Given the description of an element on the screen output the (x, y) to click on. 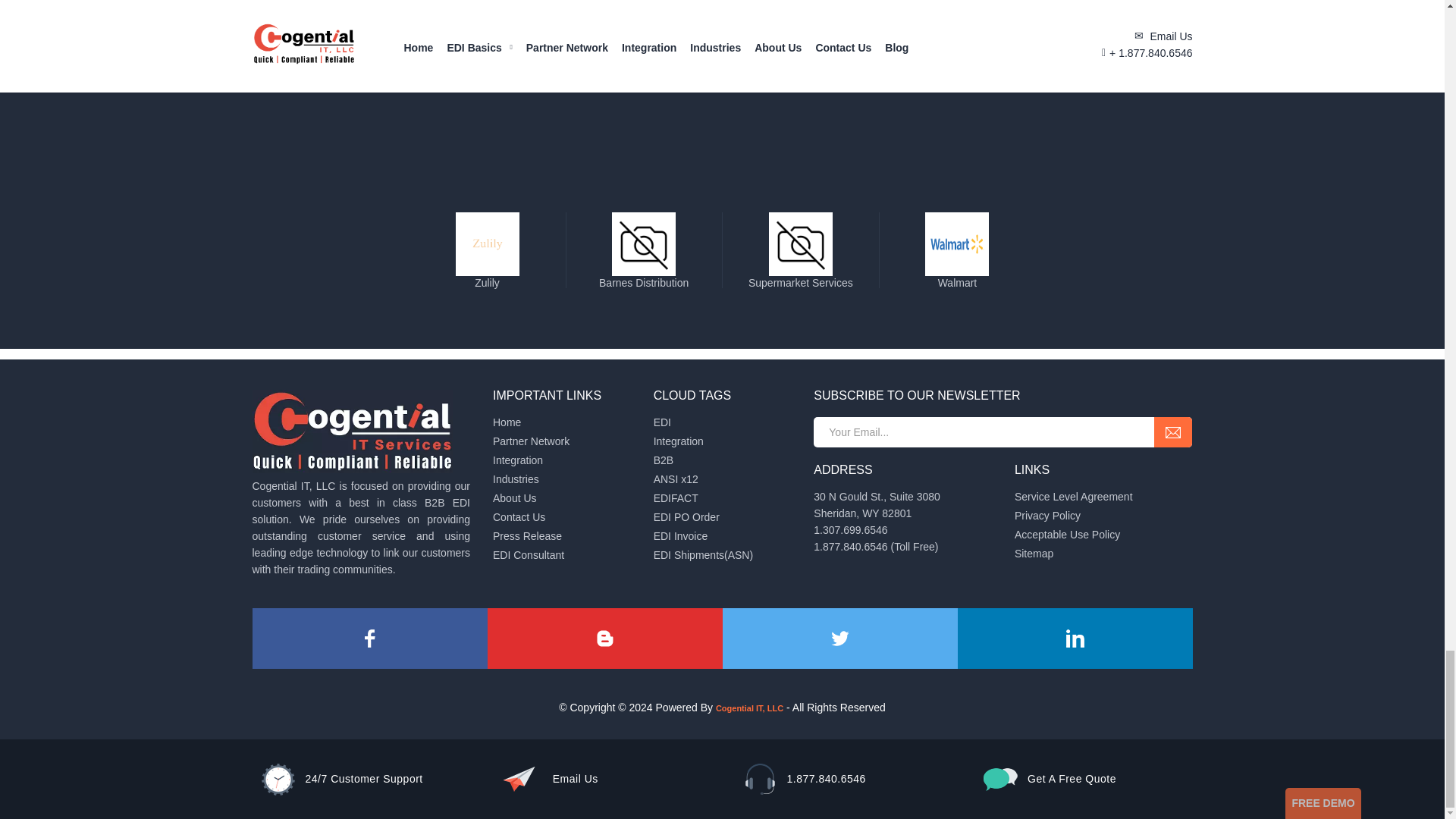
EDI Invoice (680, 535)
ANSI x12 (675, 479)
Barnes Distribution (644, 277)
Integration (518, 460)
Zulily EDI (487, 277)
EDI Consultant (528, 554)
Industries (515, 479)
About Us (515, 498)
edi invoice 810 (680, 535)
Walmart (957, 277)
edi transaction (675, 479)
Privacy Policy (1047, 515)
Acceptable Use Policy (1066, 534)
edi 856 (702, 554)
Zulily (487, 277)
